Given the description of an element on the screen output the (x, y) to click on. 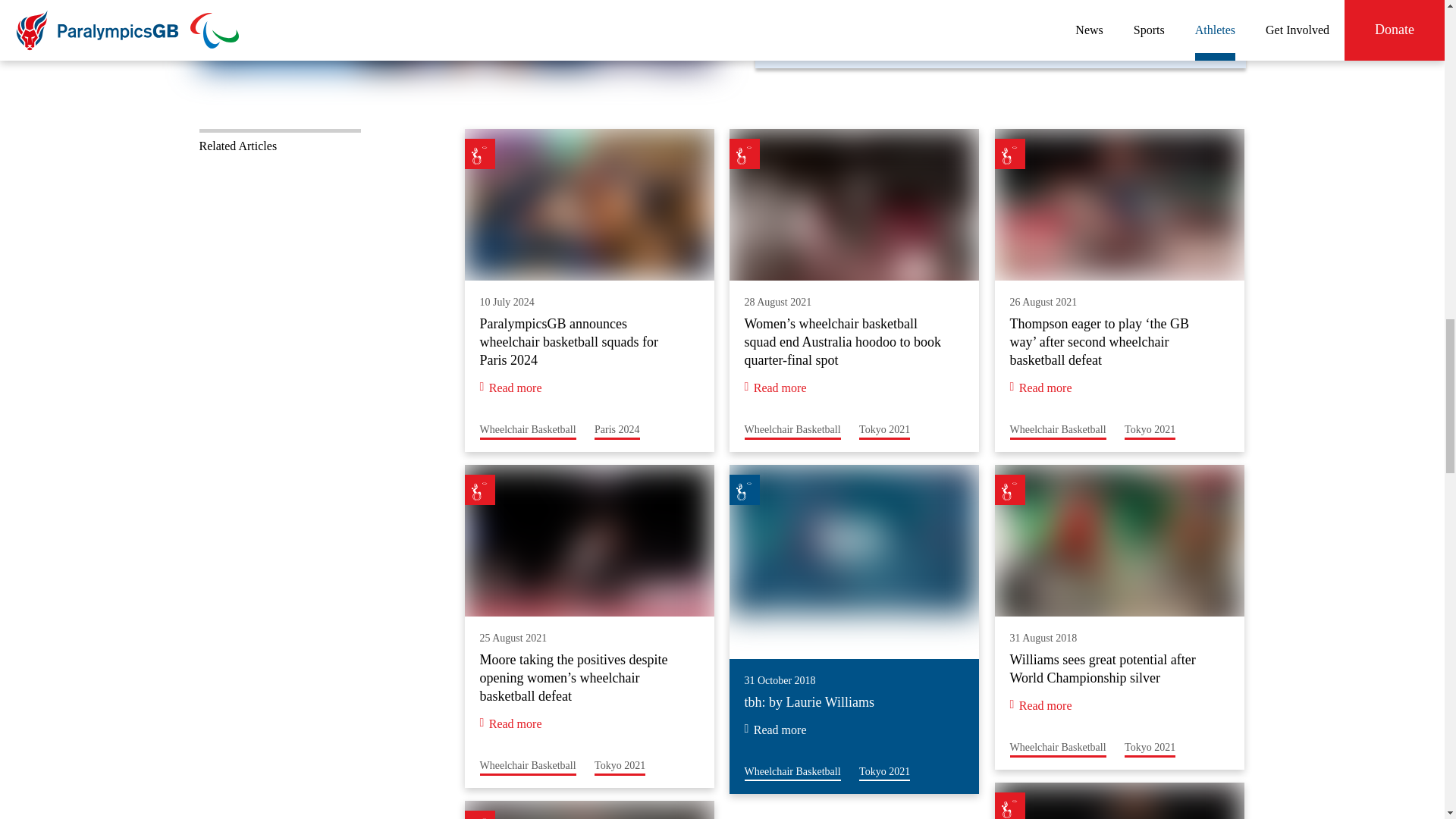
British women two from two with dominant win over Brazil (792, 771)
Sign up (884, 429)
